Given the description of an element on the screen output the (x, y) to click on. 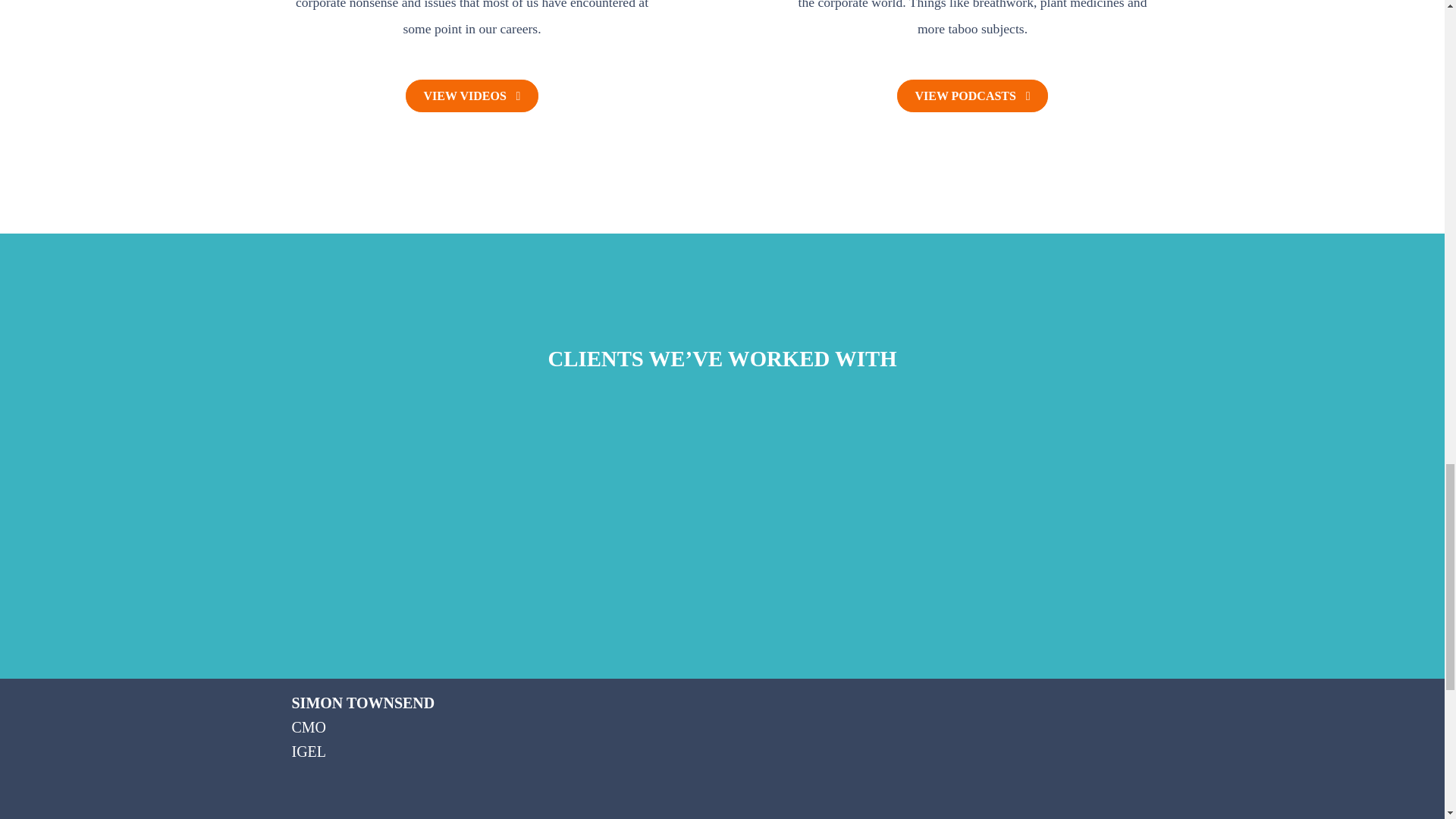
VIEW VIDEOS (472, 95)
VIEW PODCASTS (972, 95)
